Given the description of an element on the screen output the (x, y) to click on. 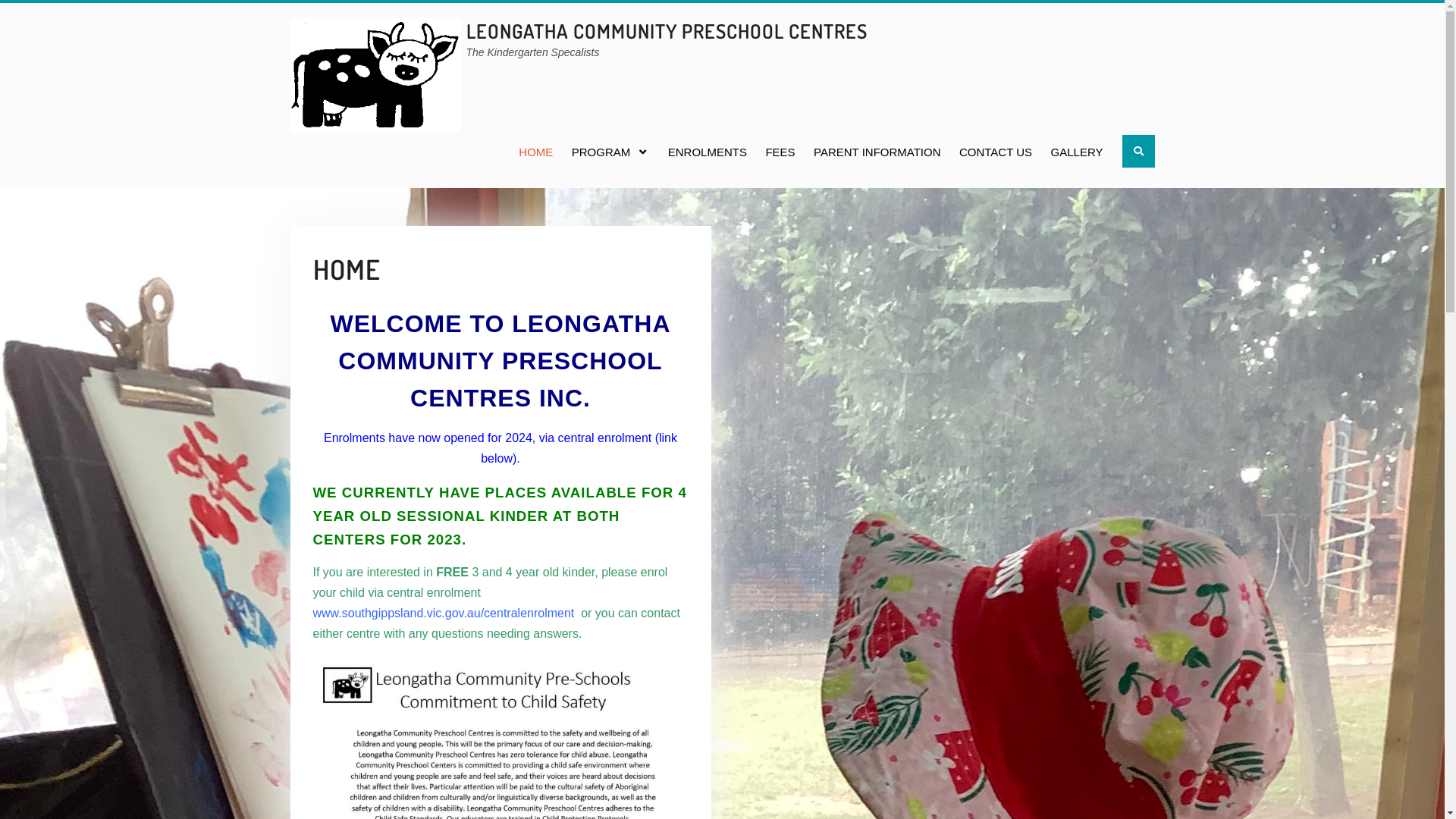
PARENT INFORMATION Element type: text (877, 151)
CONTACT US Element type: text (995, 151)
Search Element type: text (1138, 150)
GALLERY Element type: text (1076, 151)
HOME Element type: text (535, 151)
LEONGATHA COMMUNITY PRESCHOOL CENTRES Element type: text (665, 30)
FEES Element type: text (779, 151)
ENROLMENTS Element type: text (707, 151)
PROGRAM Element type: text (610, 151)
